Given the description of an element on the screen output the (x, y) to click on. 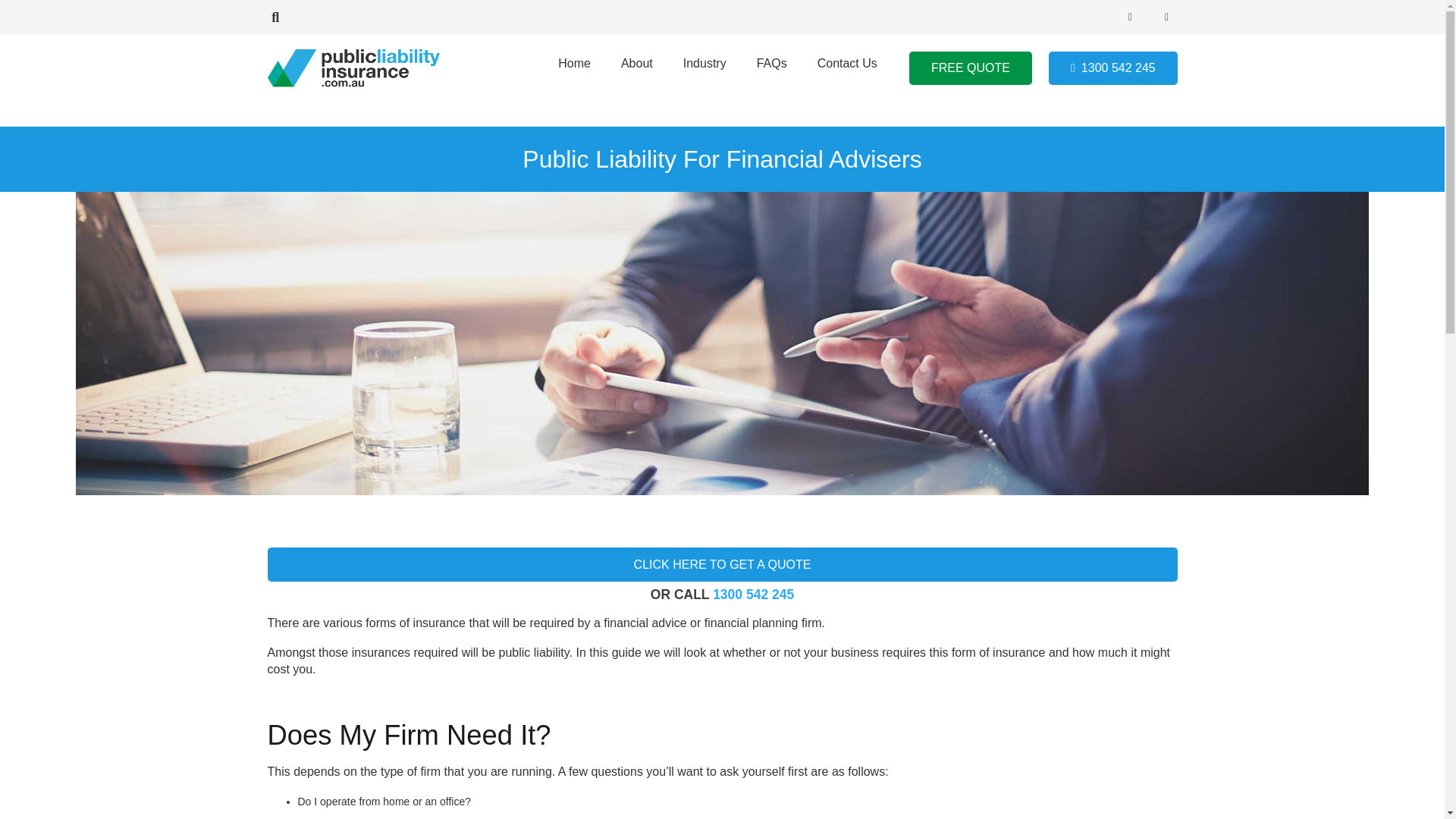
Facebook (1130, 16)
LinkedIn (1166, 16)
1300 542 245 (1112, 68)
FREE QUOTE (970, 68)
Contact Us (847, 68)
CLICK HERE TO GET A QUOTE (721, 564)
1300 542 245 (753, 594)
Industry (704, 68)
